Given the description of an element on the screen output the (x, y) to click on. 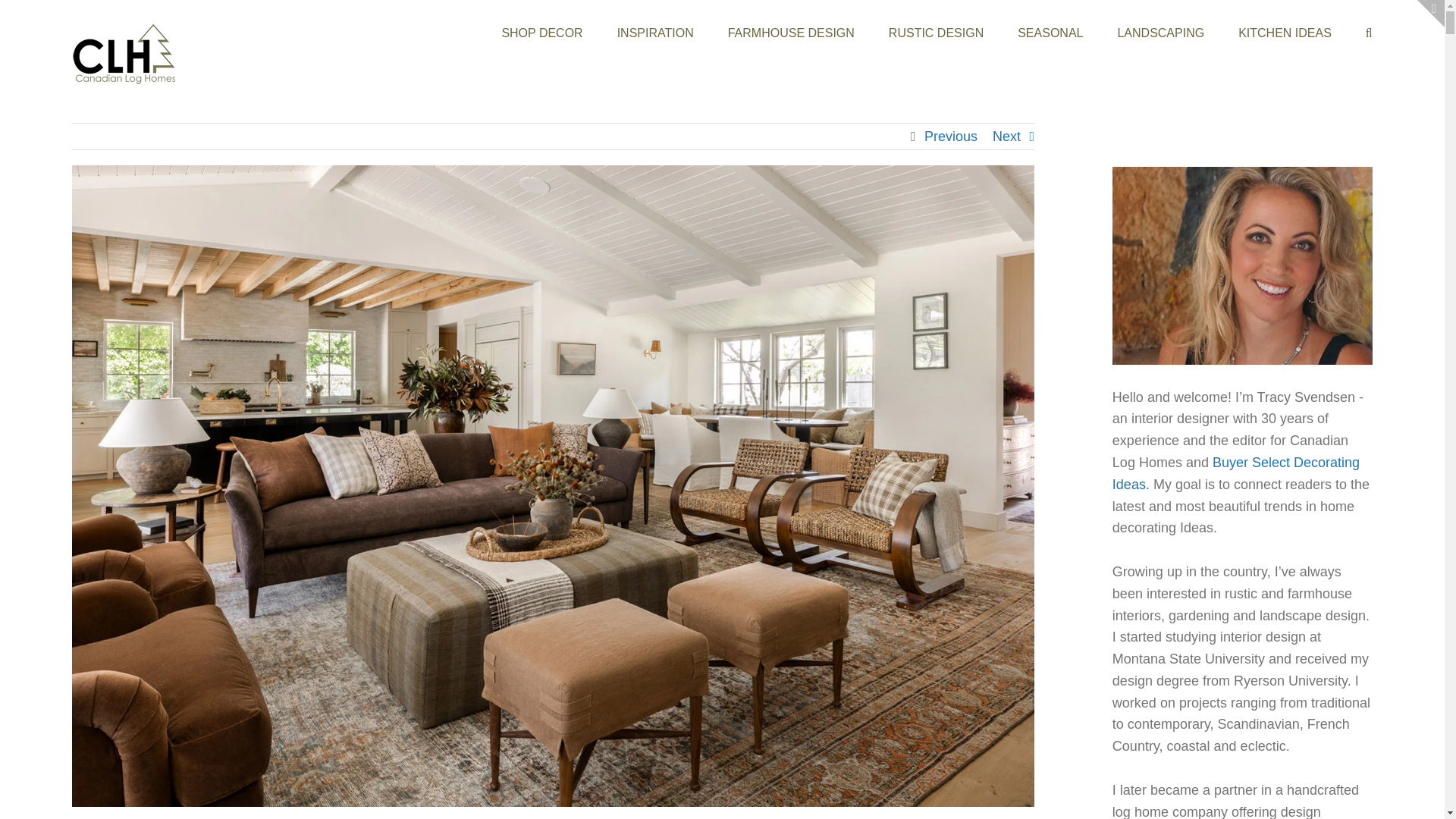
RUSTIC DESIGN (936, 31)
KITCHEN IDEAS (1285, 31)
SHOP DECOR (541, 31)
FARMHOUSE DESIGN (791, 31)
LANDSCAPING (1160, 31)
SEASONAL (1050, 31)
INSPIRATION (655, 31)
Previous (950, 136)
Next (1006, 136)
